Given the description of an element on the screen output the (x, y) to click on. 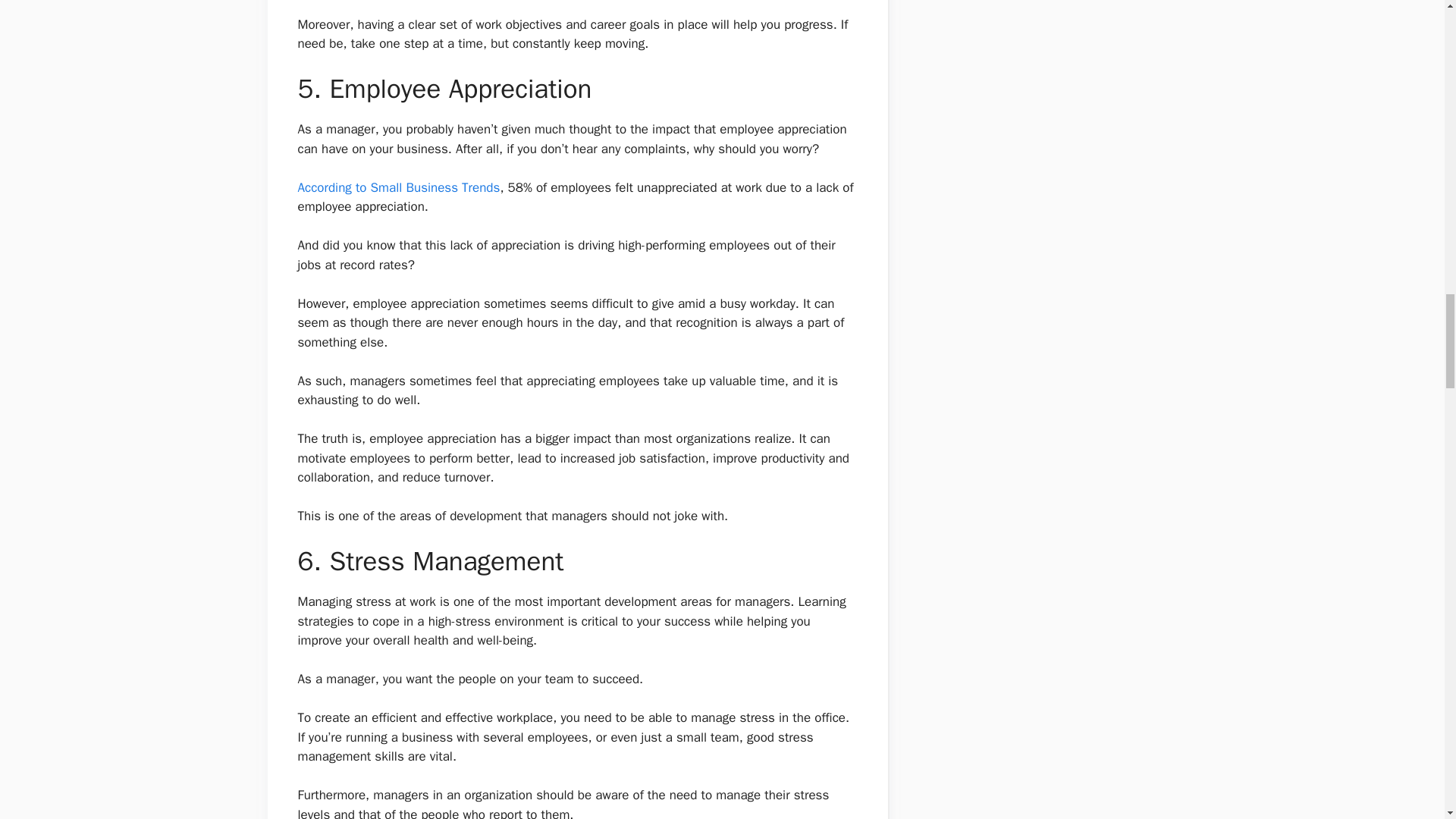
According to Small Business Trends (398, 187)
